Given the description of an element on the screen output the (x, y) to click on. 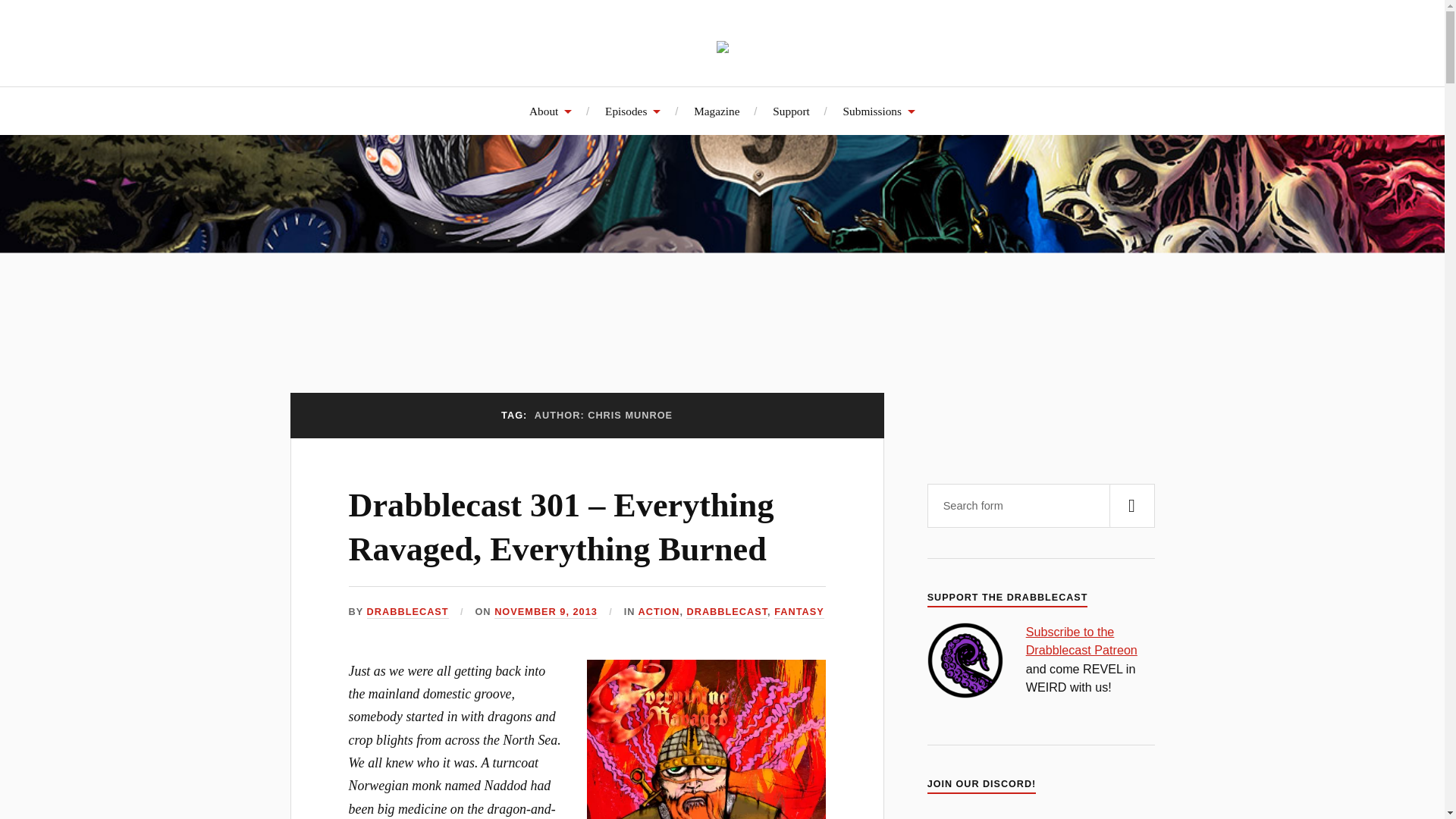
DRABBLECAST (407, 612)
ACTION (659, 612)
About (550, 110)
Episodes (633, 110)
Magazine (716, 110)
Submissions (879, 110)
DRABBLECAST (726, 612)
FANTASY (799, 612)
NOVEMBER 9, 2013 (545, 612)
Posts by Drabblecast (407, 612)
